Given the description of an element on the screen output the (x, y) to click on. 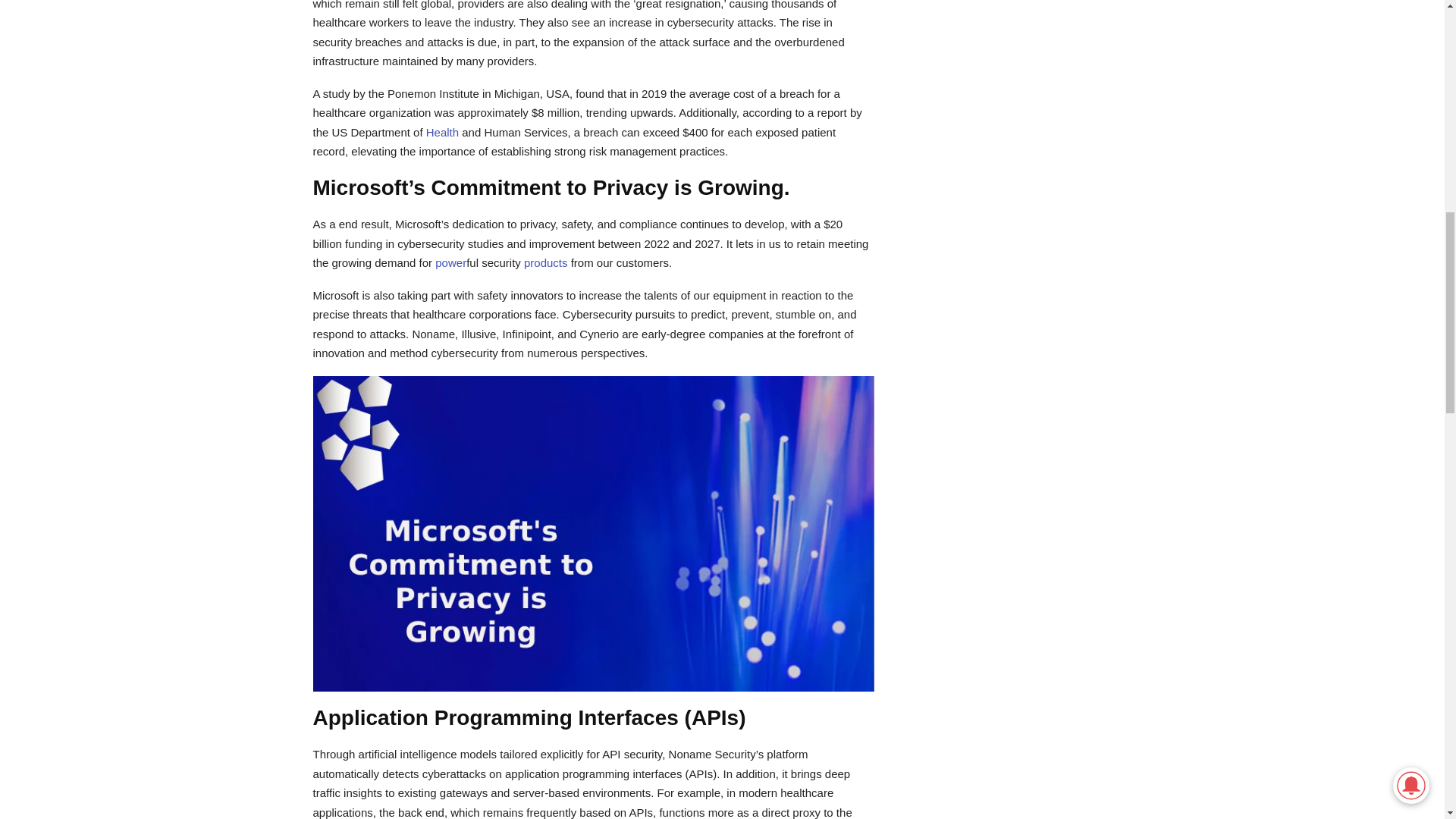
power (450, 262)
products (545, 262)
Health (442, 132)
